Given the description of an element on the screen output the (x, y) to click on. 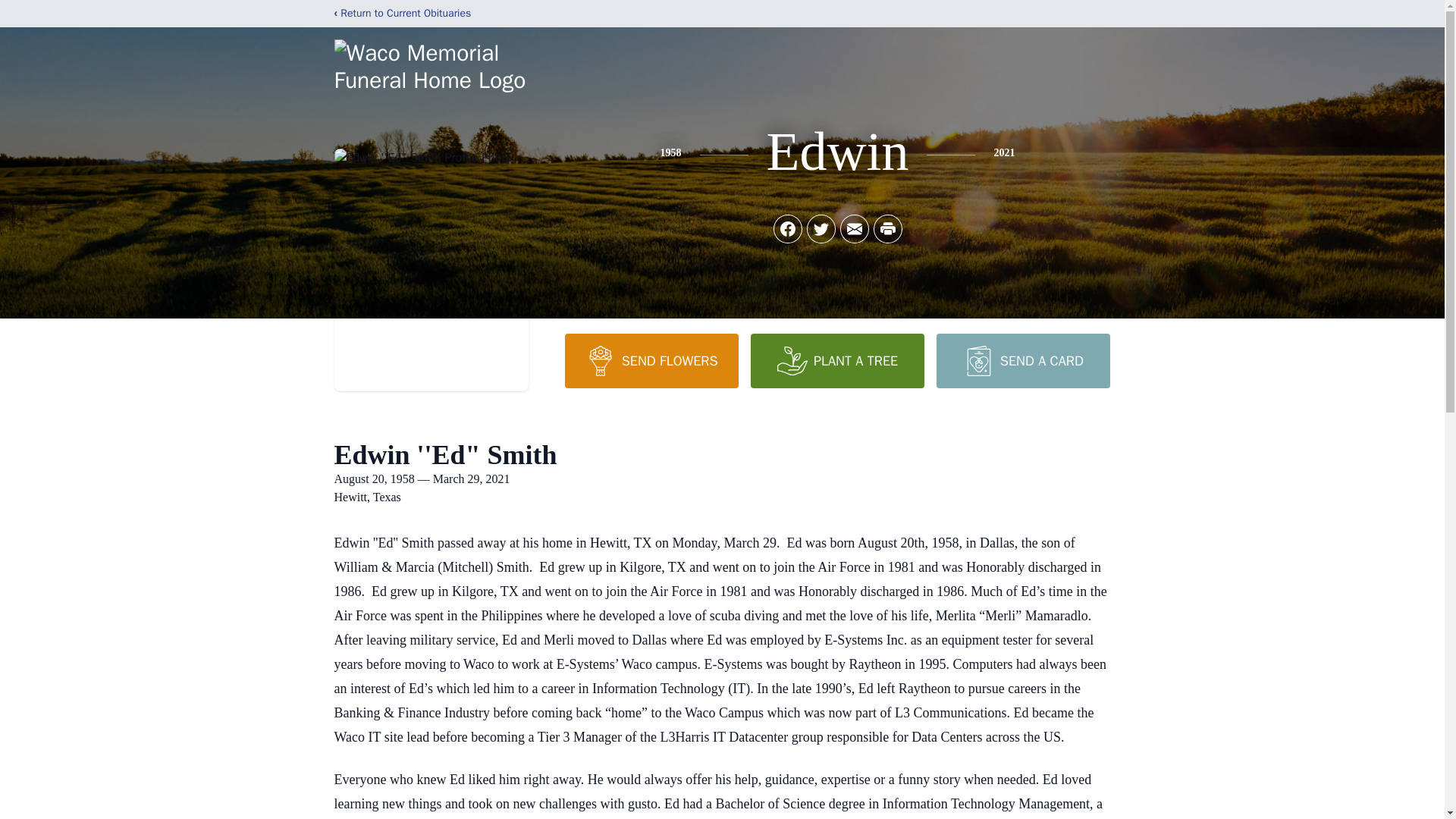
SEND FLOWERS (651, 360)
PLANT A TREE (837, 360)
SEND A CARD (1022, 360)
